Given the description of an element on the screen output the (x, y) to click on. 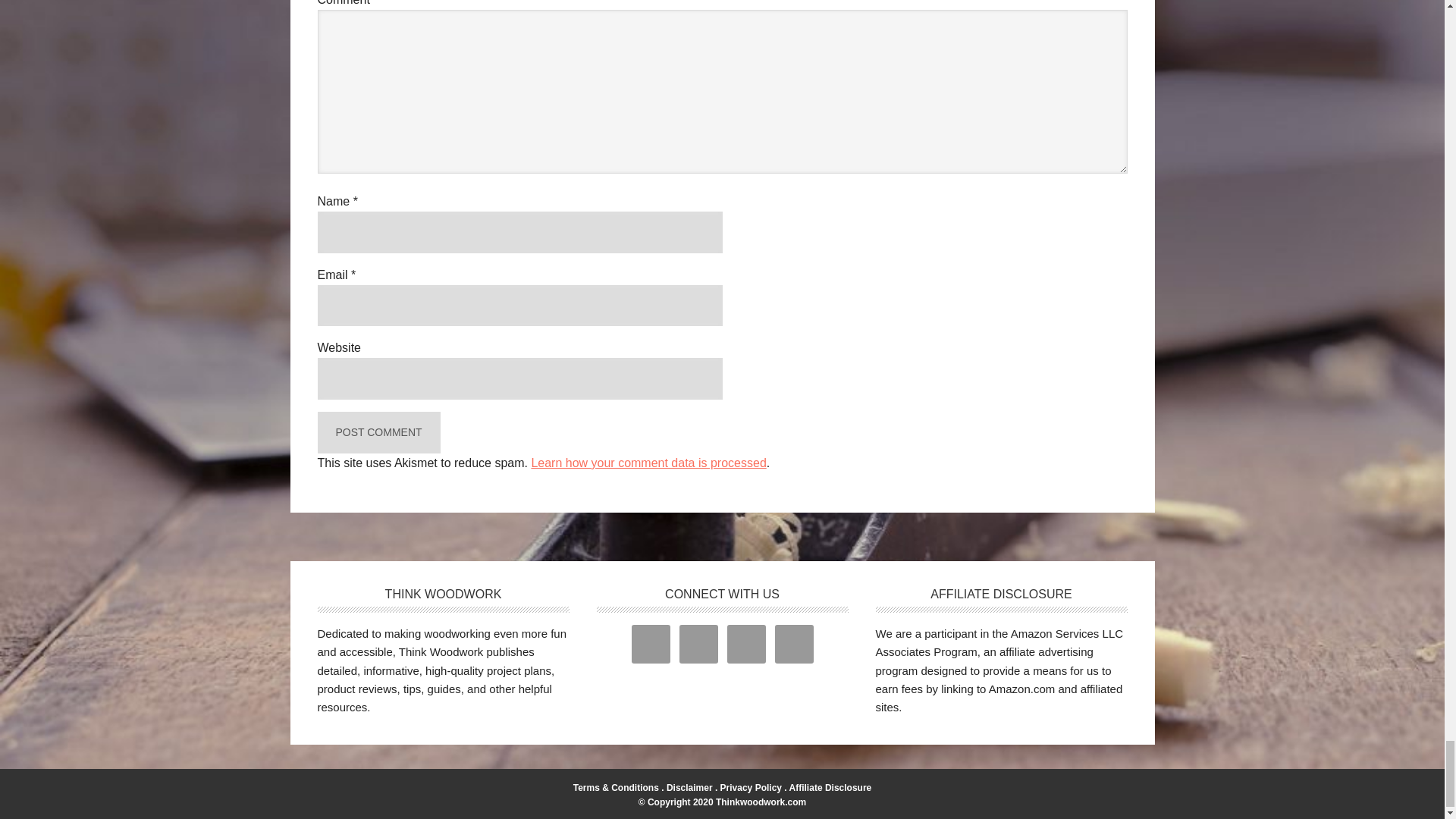
Post Comment (378, 432)
